Given the description of an element on the screen output the (x, y) to click on. 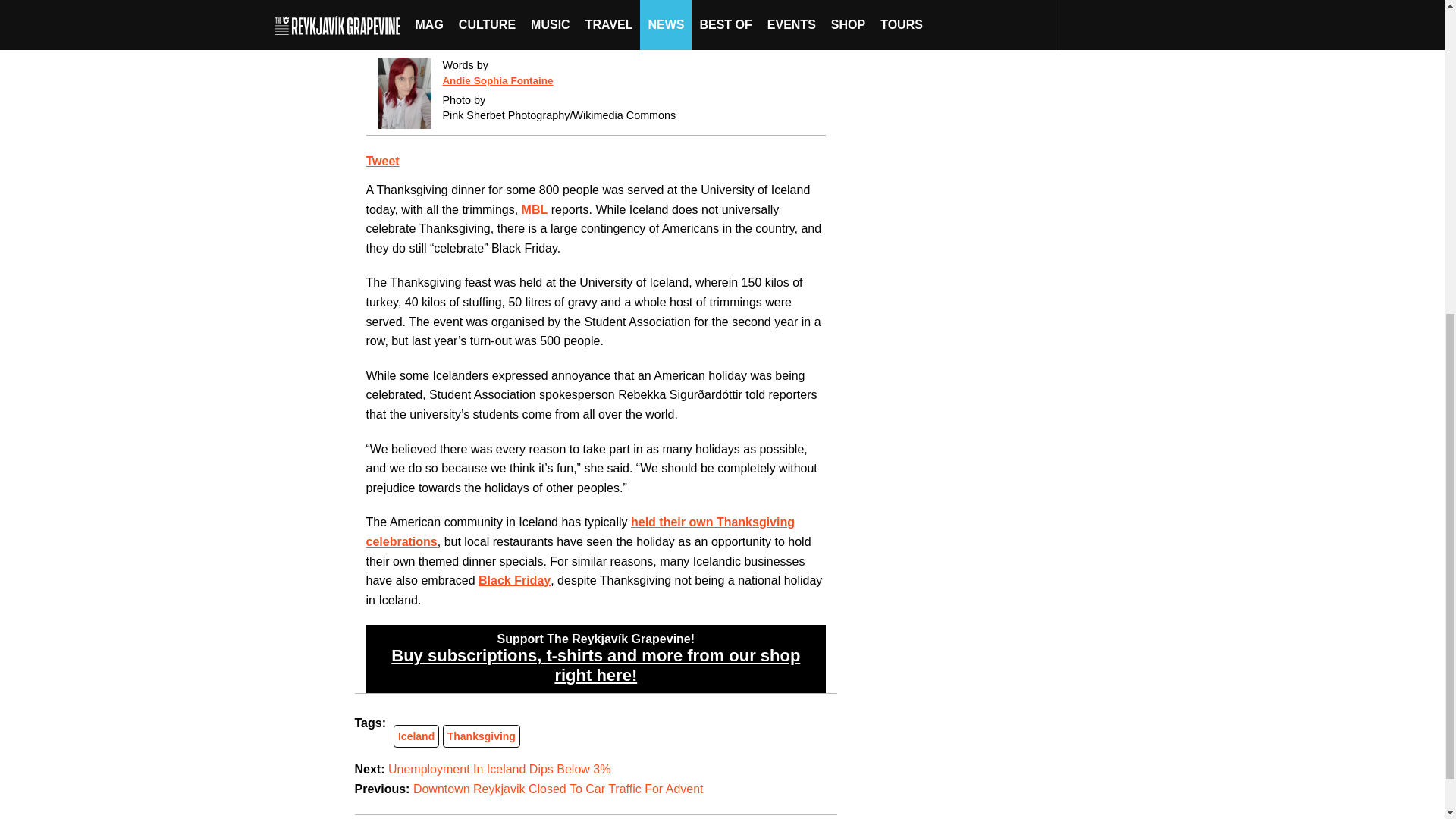
Downtown Reykjavik Closed To Car Traffic For Advent (558, 788)
Thanksgiving (480, 736)
Black Friday (514, 580)
Iceland (415, 736)
Posts by Andie Sophia Fontaine (497, 80)
Tweet (381, 160)
held their own Thanksgiving celebrations (579, 531)
MBL (534, 209)
Andie Sophia Fontaine (497, 80)
